Given the description of an element on the screen output the (x, y) to click on. 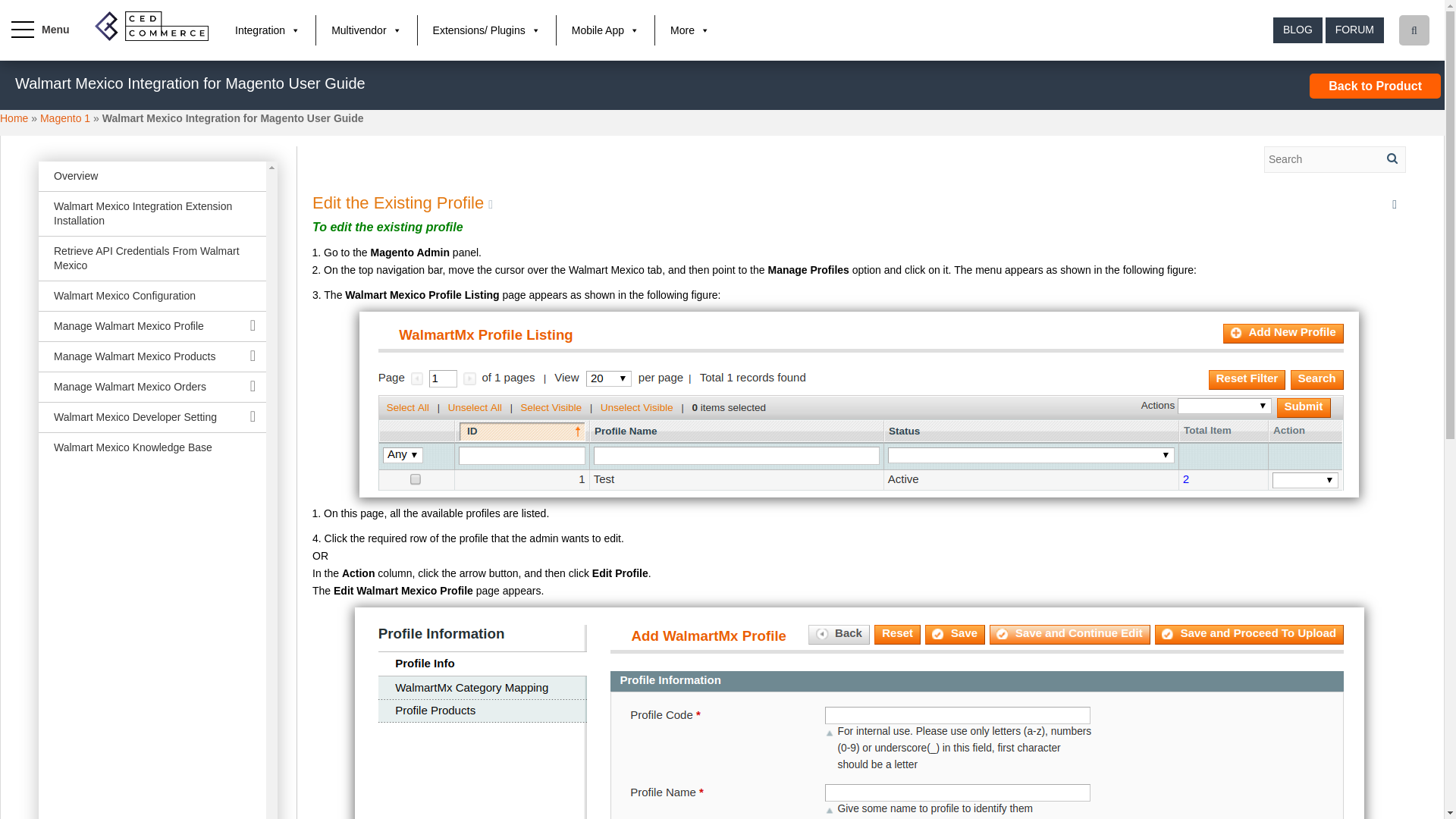
More (690, 30)
Integration (267, 30)
Mobile App (604, 30)
BLOG (1297, 30)
FORUM (1354, 30)
Multivendor (365, 30)
